Given the description of an element on the screen output the (x, y) to click on. 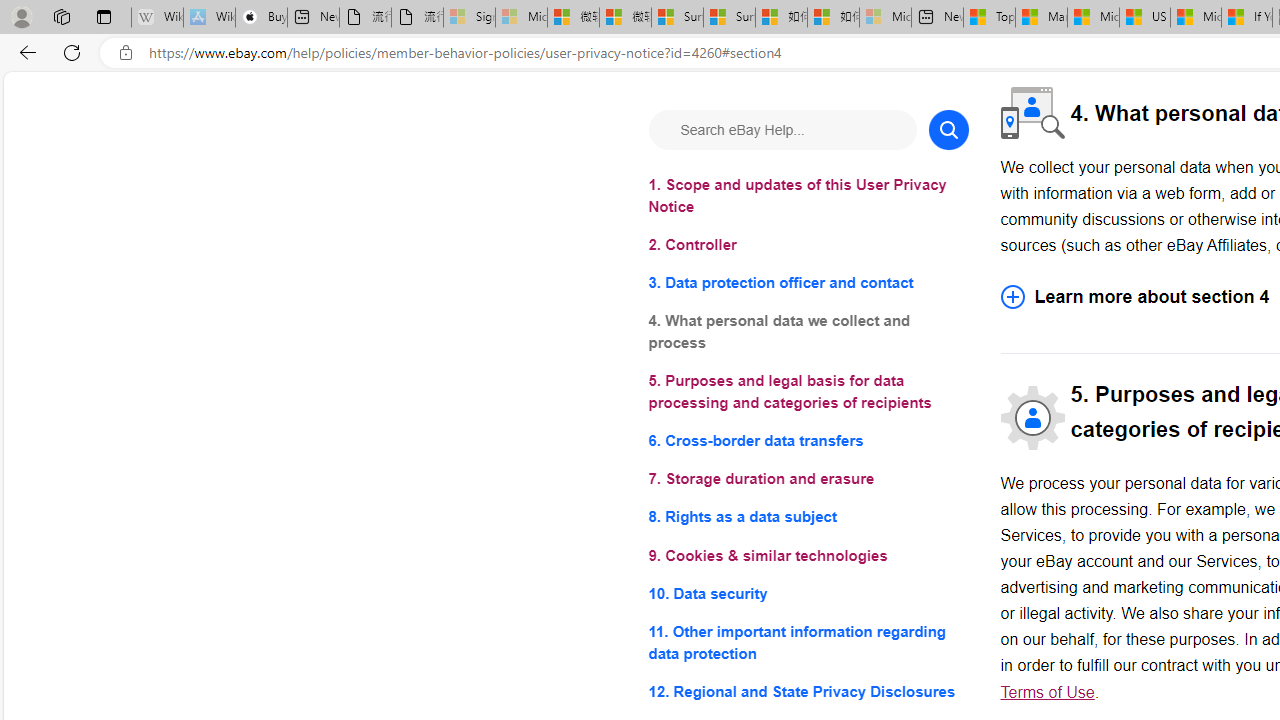
Microsoft Services Agreement - Sleeping (520, 17)
11. Other important information regarding data protection (807, 642)
7. Storage duration and erasure (807, 479)
6. Cross-border data transfers (807, 440)
Top Stories - MSN (989, 17)
US Heat Deaths Soared To Record High Last Year (1144, 17)
1. Scope and updates of this User Privacy Notice (807, 196)
Wikipedia - Sleeping (157, 17)
